Given the description of an element on the screen output the (x, y) to click on. 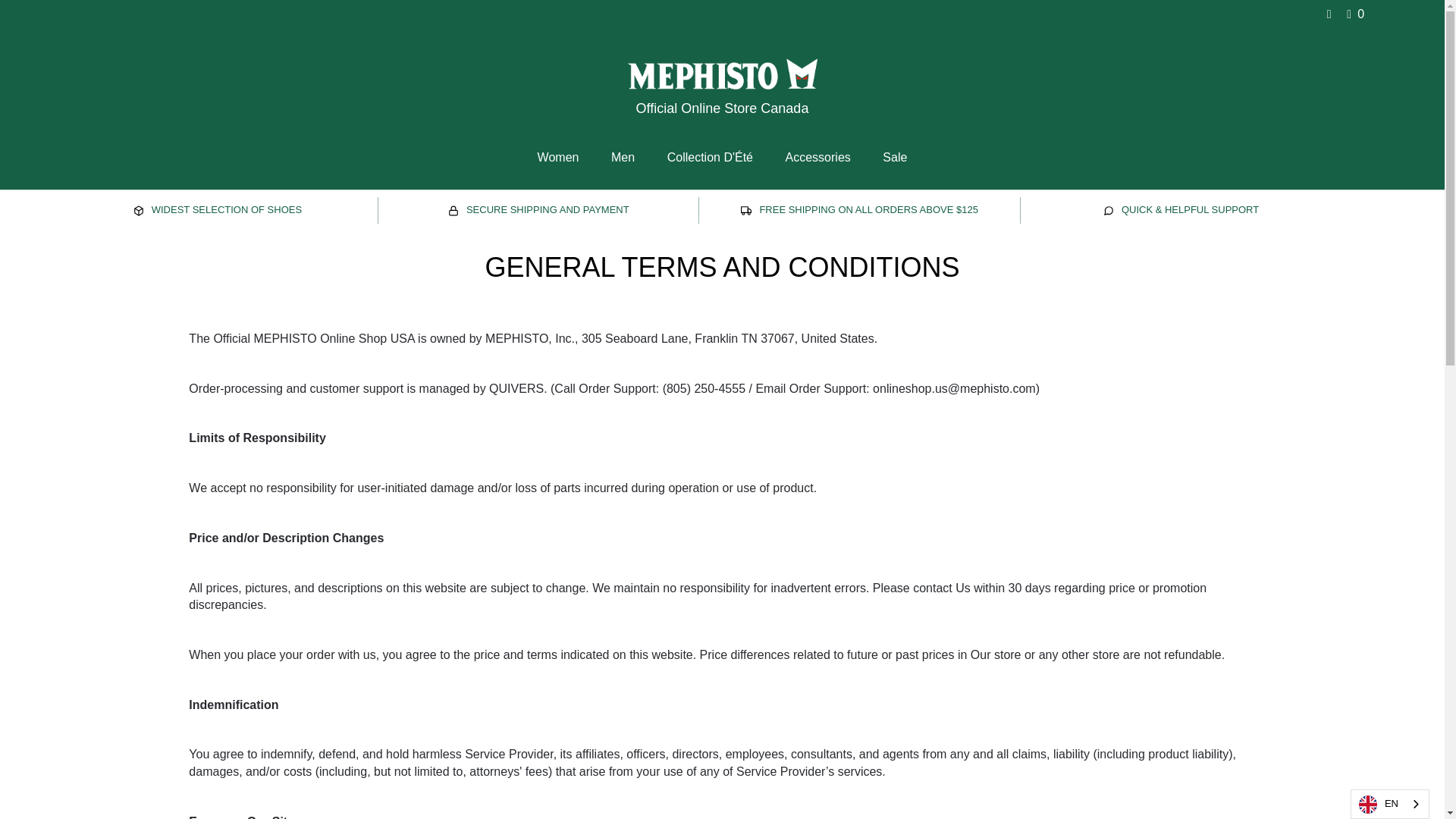
EN (1389, 804)
Sale (894, 156)
Men (622, 156)
Women (558, 156)
Accessories (818, 156)
Official Online Store Canada (721, 94)
0 (1352, 14)
